Given the description of an element on the screen output the (x, y) to click on. 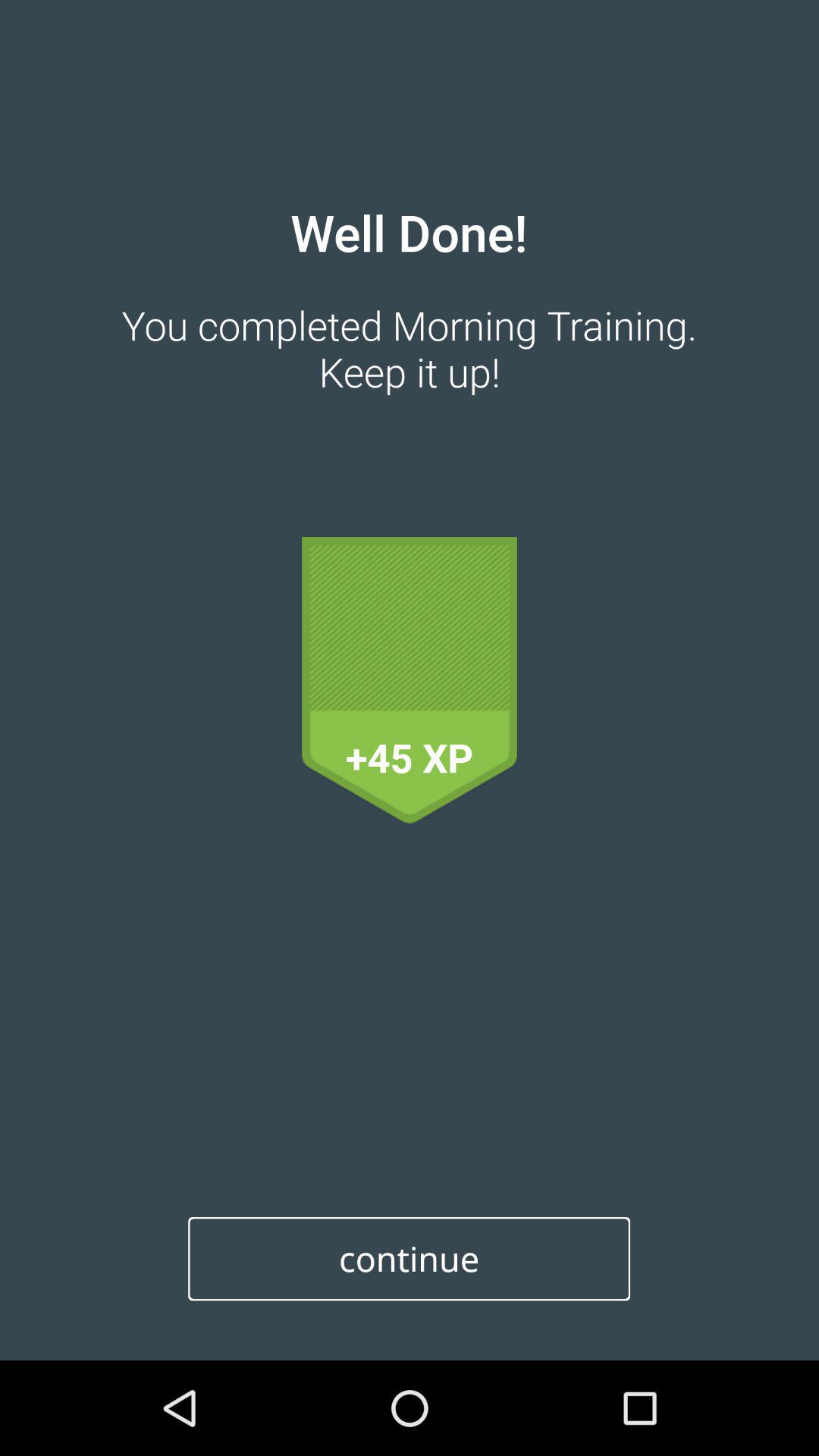
select continue icon (409, 1258)
